Given the description of an element on the screen output the (x, y) to click on. 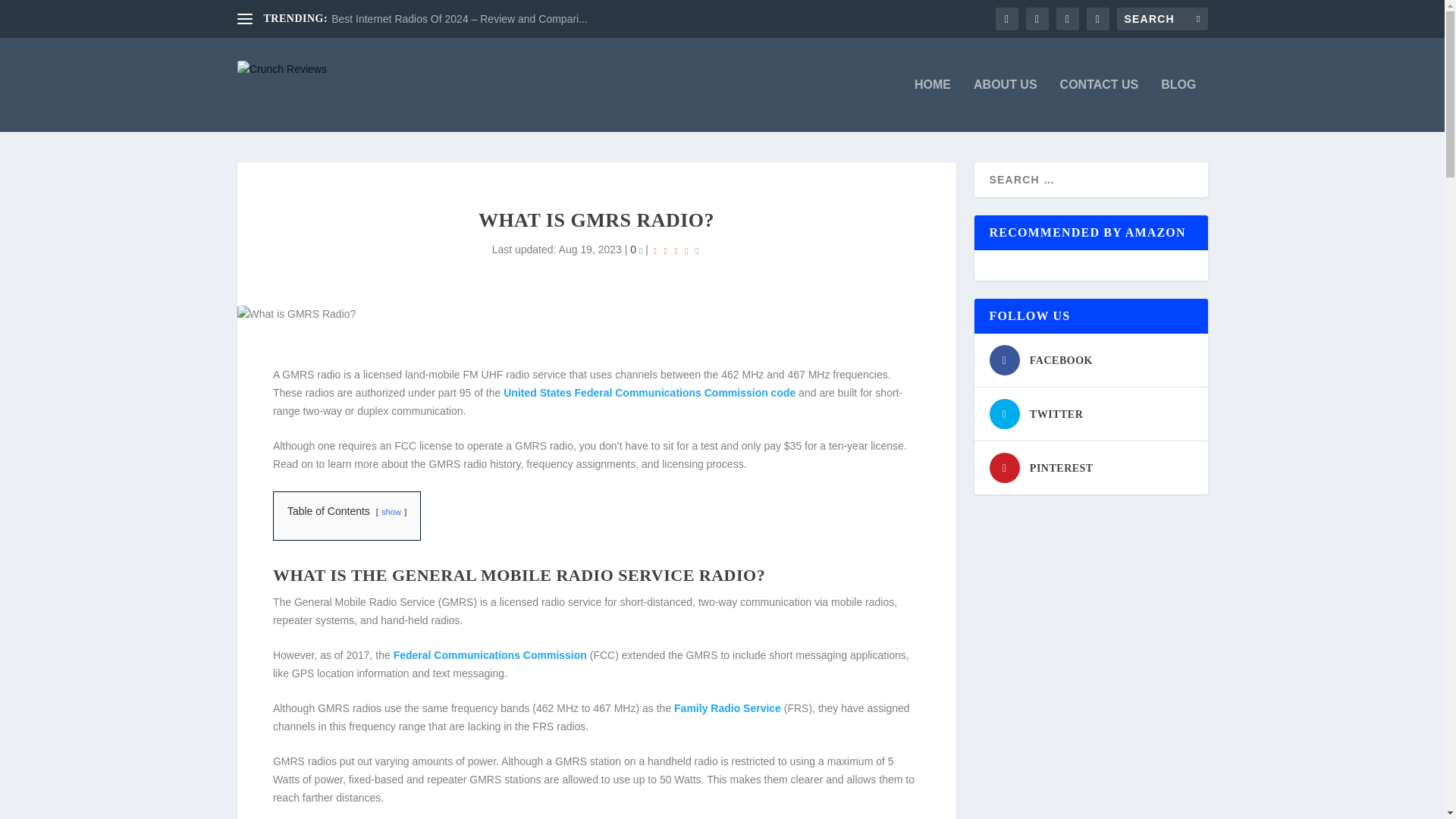
United States Federal Communications Commission code (648, 392)
Rating: 5.00 (675, 250)
0 (636, 249)
ABOUT US (1005, 104)
CONTACT US (1098, 104)
Search for: (1161, 18)
show (391, 511)
